Given the description of an element on the screen output the (x, y) to click on. 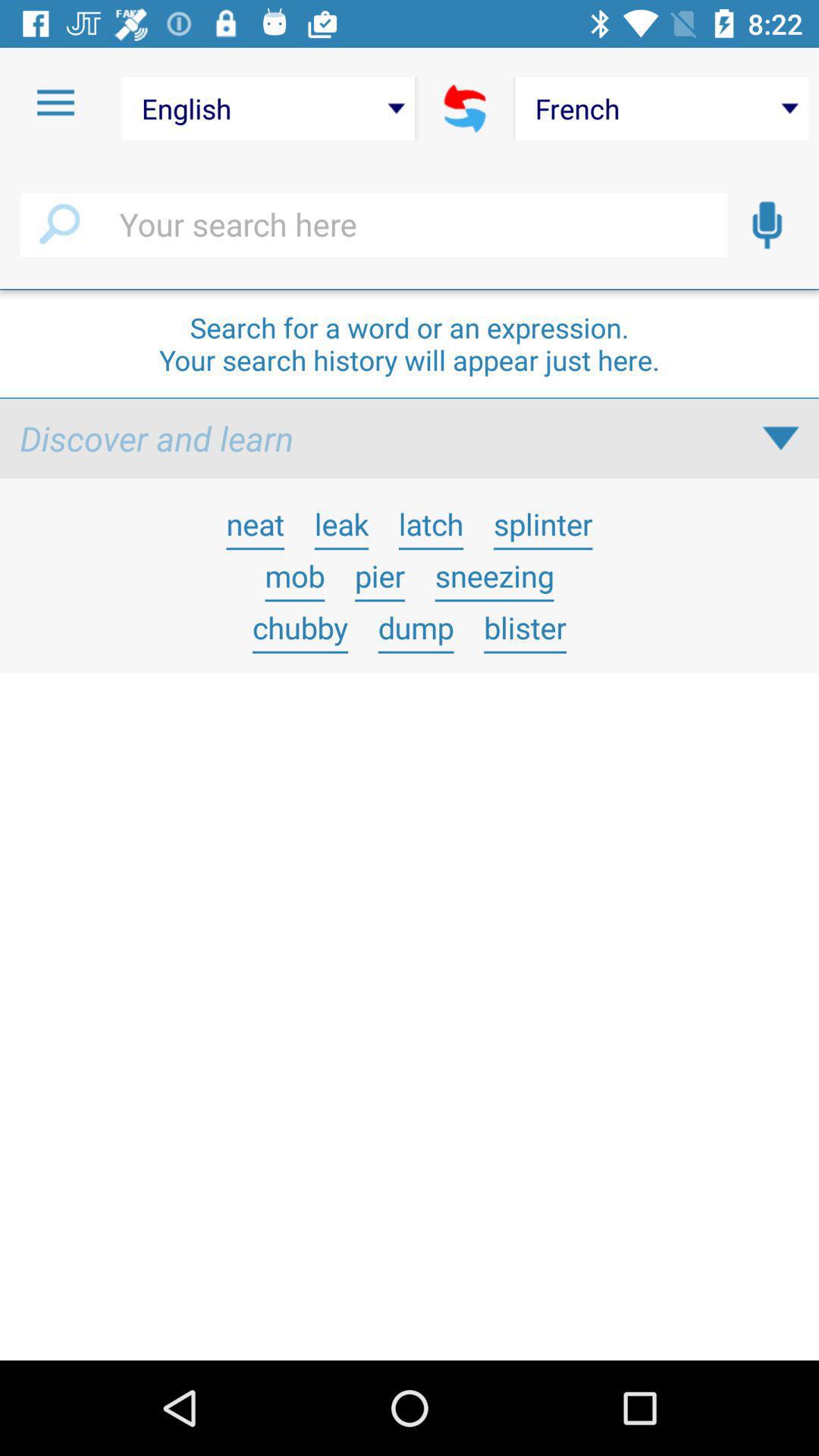
select the down arrow icon beside text discover and learn (780, 437)
